Given the description of an element on the screen output the (x, y) to click on. 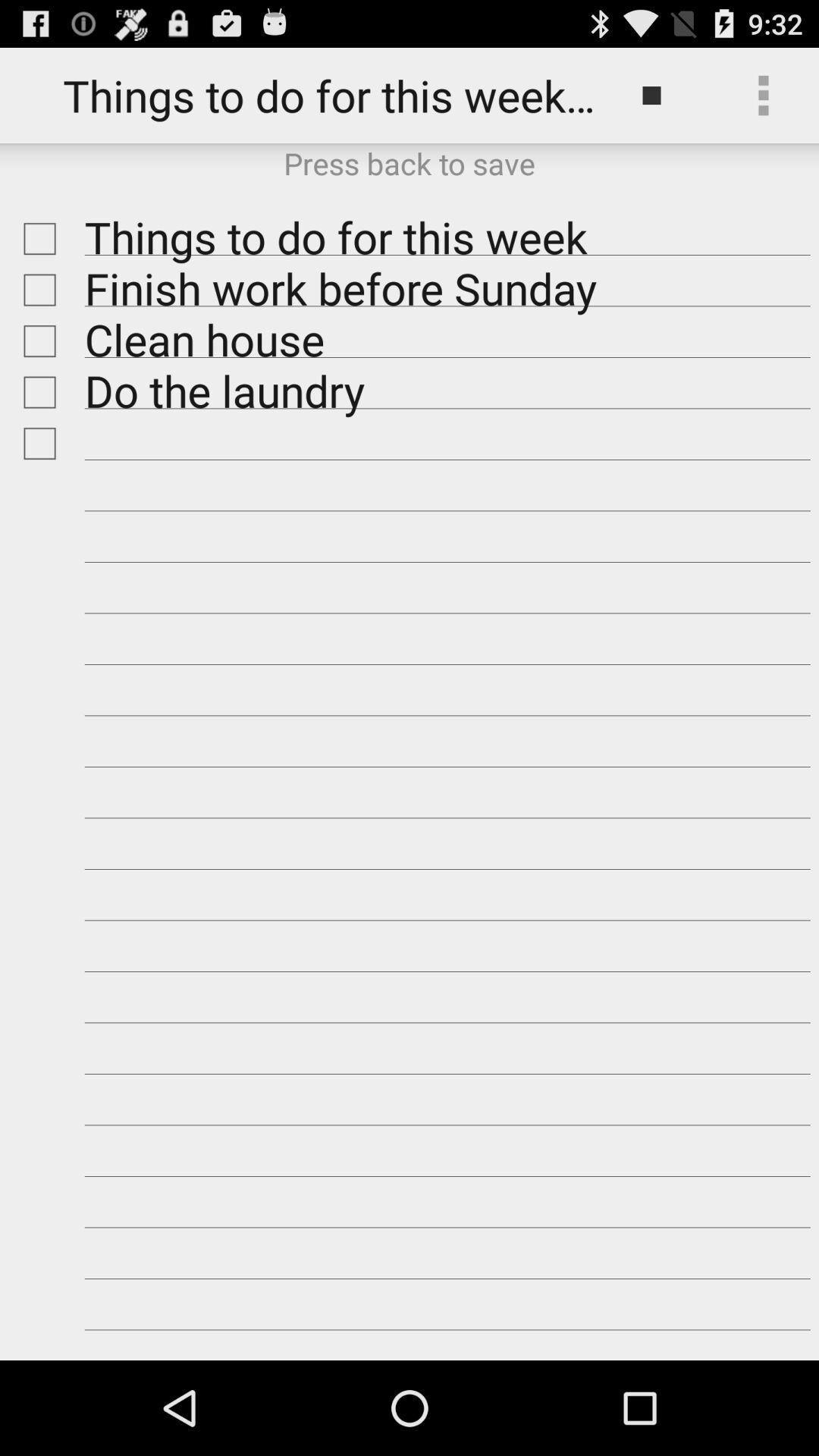
check off item (35, 340)
